Given the description of an element on the screen output the (x, y) to click on. 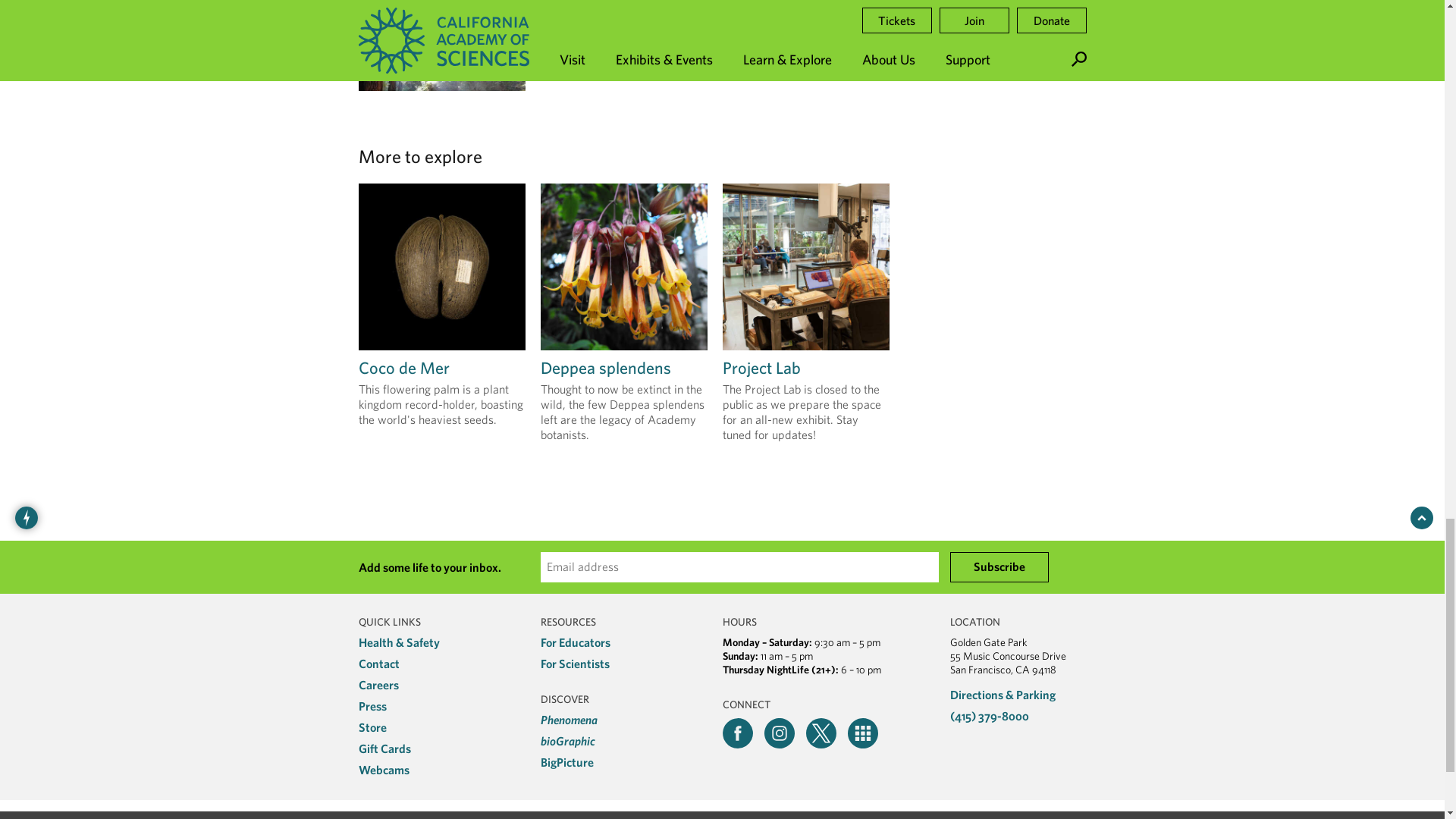
Subscribe (998, 567)
